Given the description of an element on the screen output the (x, y) to click on. 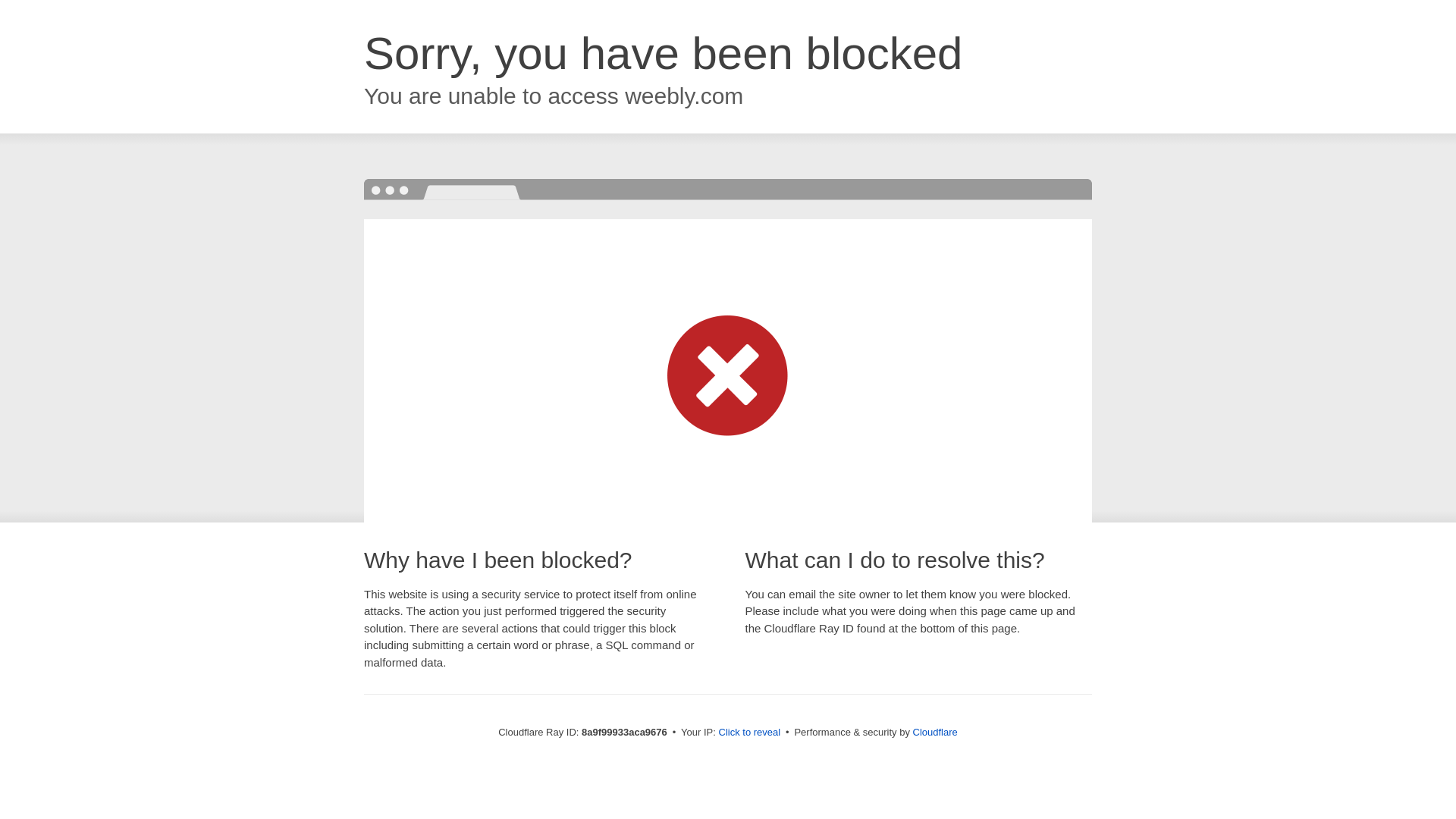
Click to reveal (749, 732)
Cloudflare (935, 731)
